Given the description of an element on the screen output the (x, y) to click on. 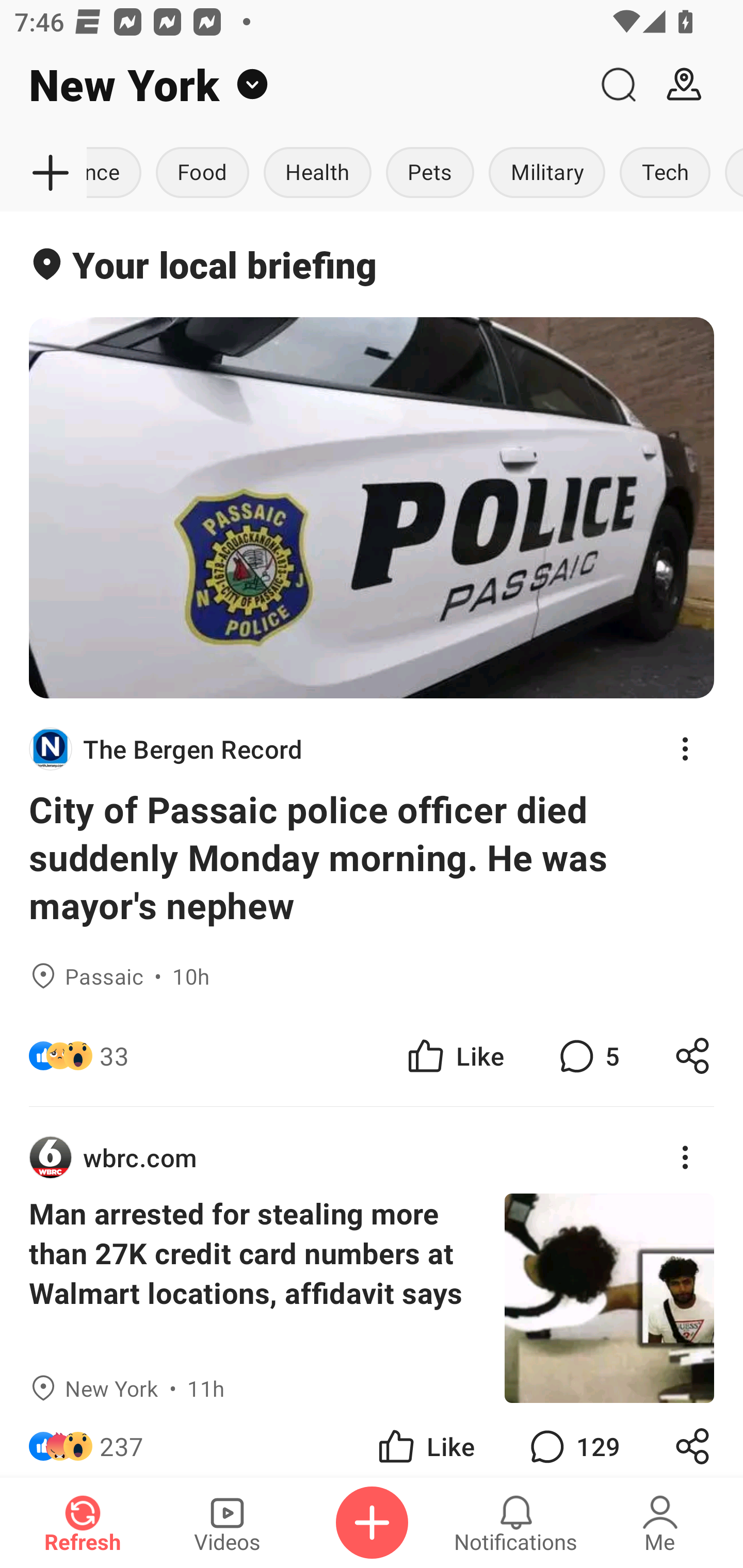
New York (292, 84)
Science (117, 172)
Food (202, 172)
Health (317, 172)
Pets (429, 172)
Military (546, 172)
Tech (664, 172)
33 (114, 1055)
Like (454, 1055)
5 (587, 1055)
237 (121, 1440)
Like (425, 1440)
129 (572, 1440)
Videos (227, 1522)
Notifications (516, 1522)
Me (659, 1522)
